Given the description of an element on the screen output the (x, y) to click on. 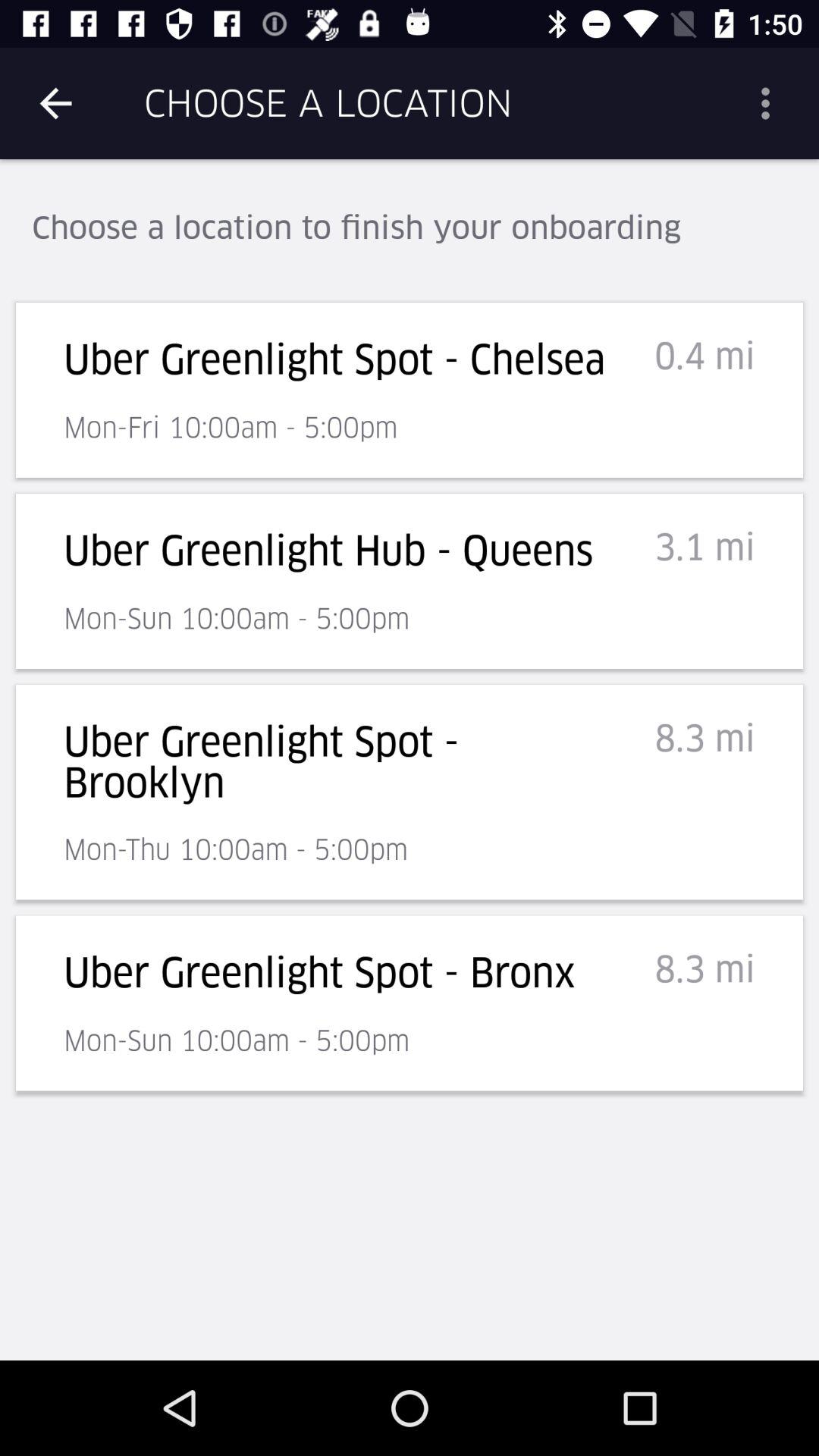
open icon above the choose a location (771, 103)
